Given the description of an element on the screen output the (x, y) to click on. 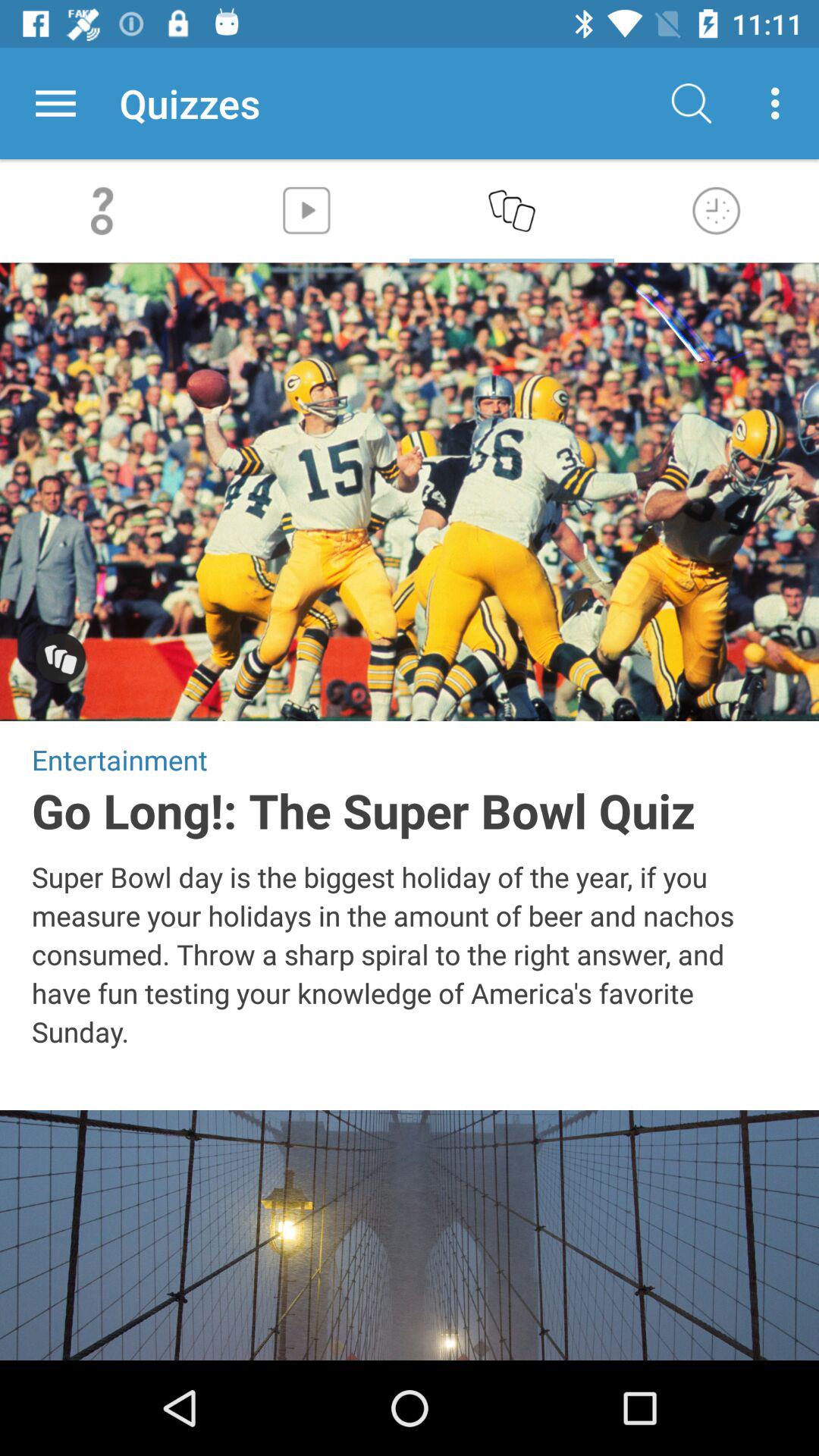
turn on icon above entertainment (60, 660)
